Given the description of an element on the screen output the (x, y) to click on. 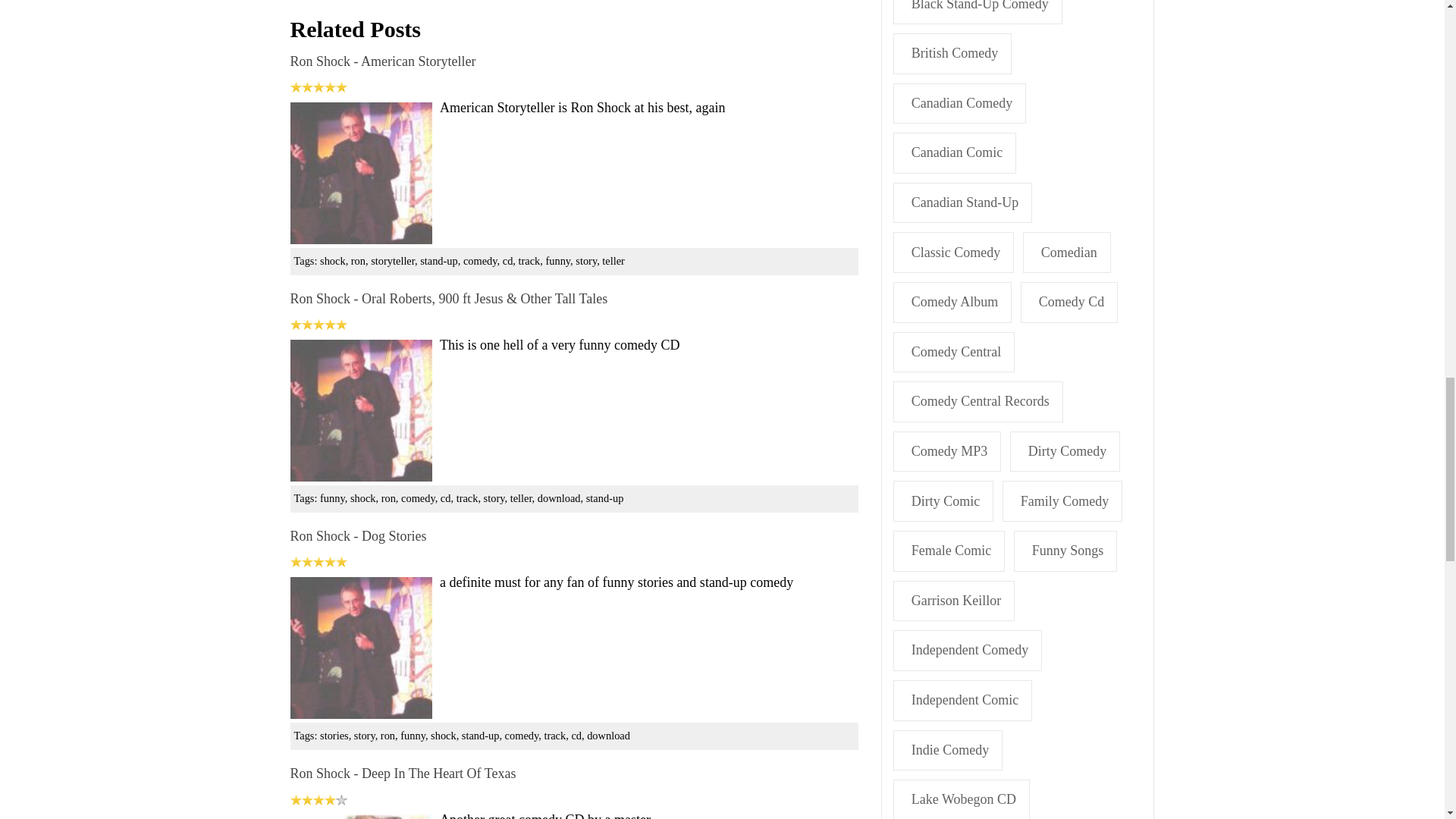
Ron Shock - Dog Stories (357, 535)
Ron Shock - Dog Stories (357, 535)
Ron Shock - American Storyteller (359, 173)
Ron Shock - Dog Stories (359, 648)
Ron Shock - Deep In The Heart Of Texas (402, 773)
Ron Shock - American Storyteller (382, 61)
Ron Shock - American Storyteller (382, 61)
Ron Shock - Deep In The Heart Of Texas (359, 816)
Ron Shock - Deep In The Heart Of Texas (402, 773)
